Given the description of an element on the screen output the (x, y) to click on. 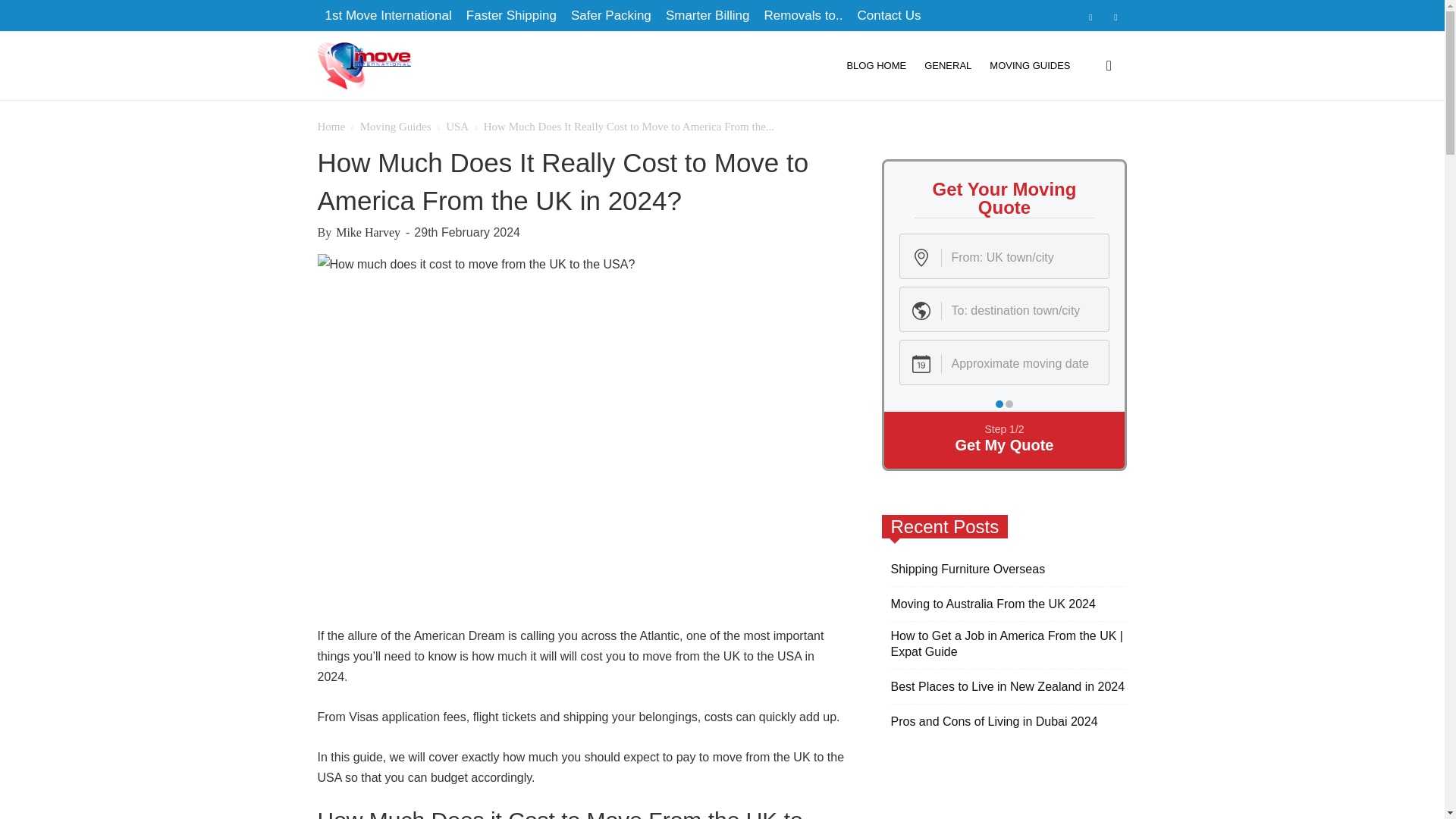
View all posts in Moving Guides (394, 126)
View all posts in USA (456, 126)
1st Move International (363, 66)
Search (1080, 142)
Safer Packing (610, 15)
Faster Shipping (510, 15)
1st Move International (387, 15)
Smarter Billing (707, 15)
Contact Us (888, 15)
Pinterest (1114, 16)
Removals to.. (802, 15)
Facebook (1090, 16)
